Given the description of an element on the screen output the (x, y) to click on. 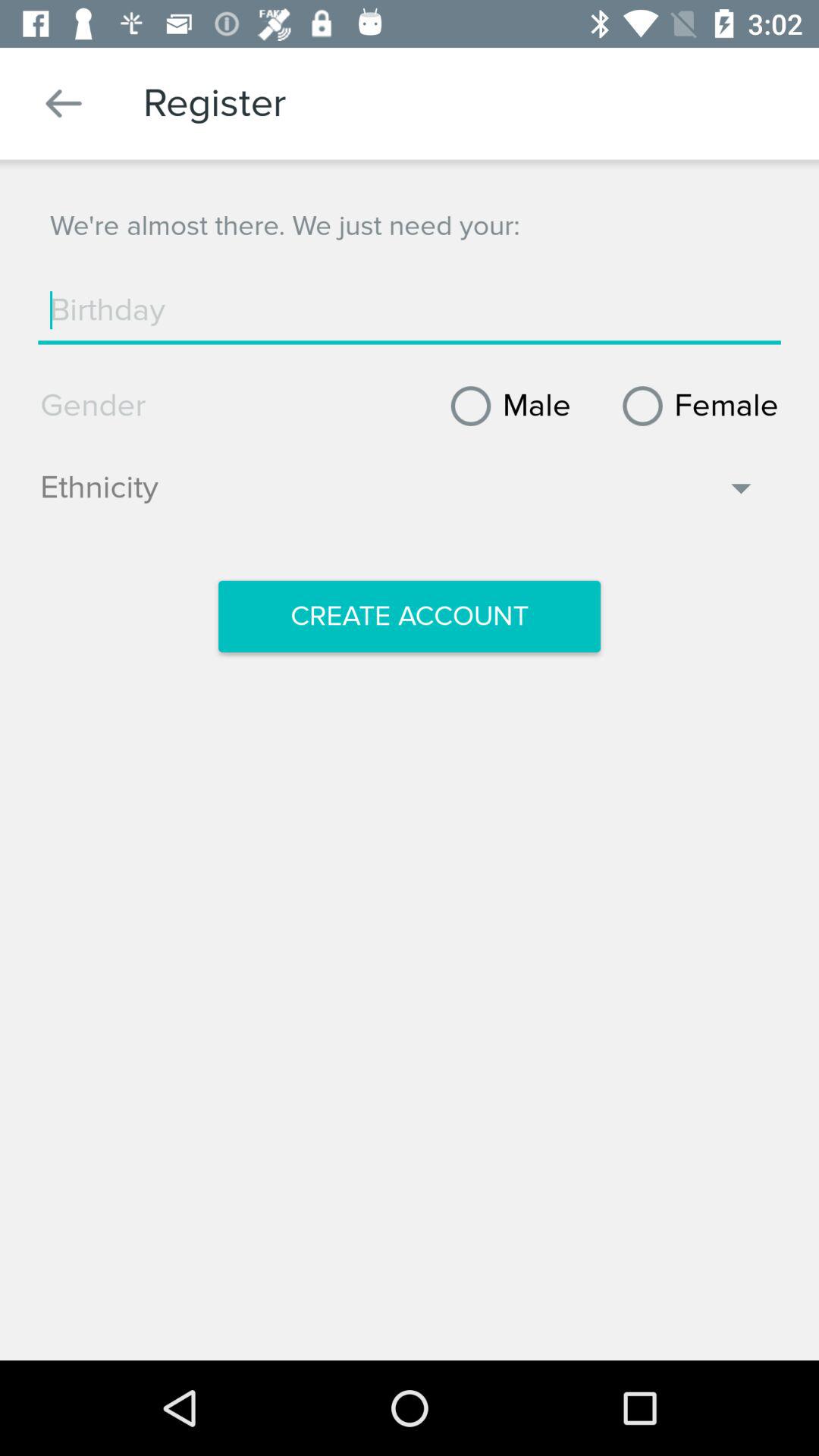
open ethnicity menu (399, 494)
